Given the description of an element on the screen output the (x, y) to click on. 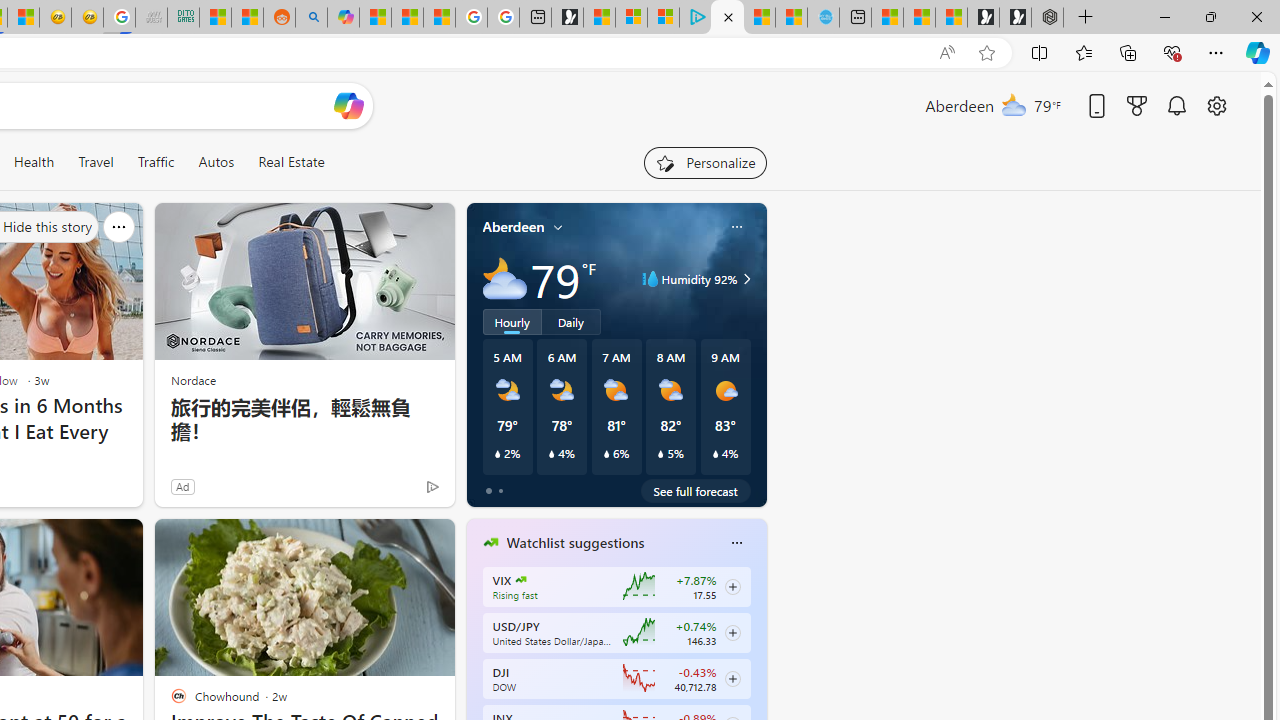
Notifications (1176, 105)
Settings and more (Alt+F) (1215, 52)
Real Estate (290, 162)
